Given the description of an element on the screen output the (x, y) to click on. 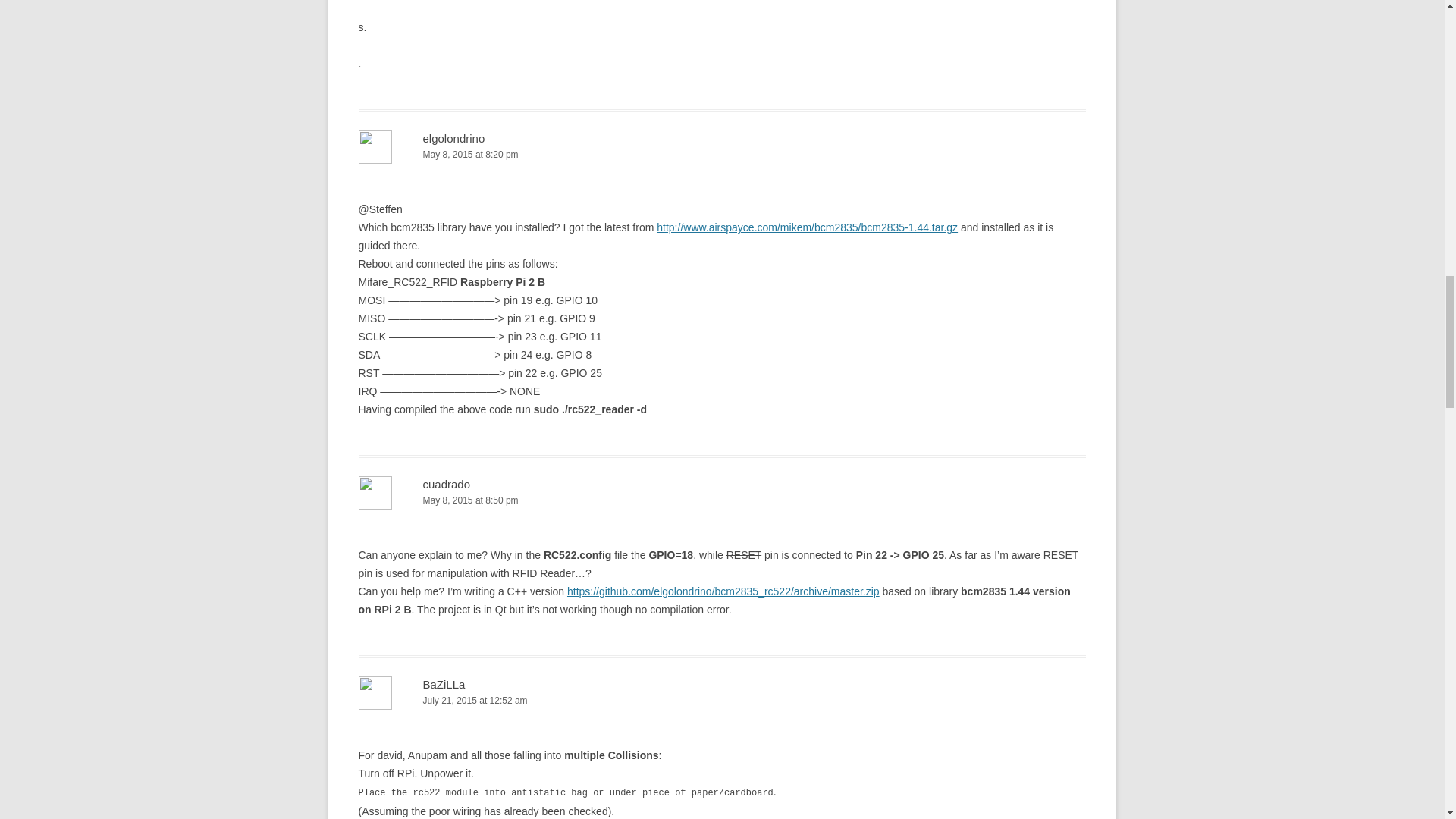
July 21, 2015 at 12:52 am (722, 700)
May 8, 2015 at 8:20 pm (722, 154)
May 8, 2015 at 8:50 pm (722, 500)
